Given the description of an element on the screen output the (x, y) to click on. 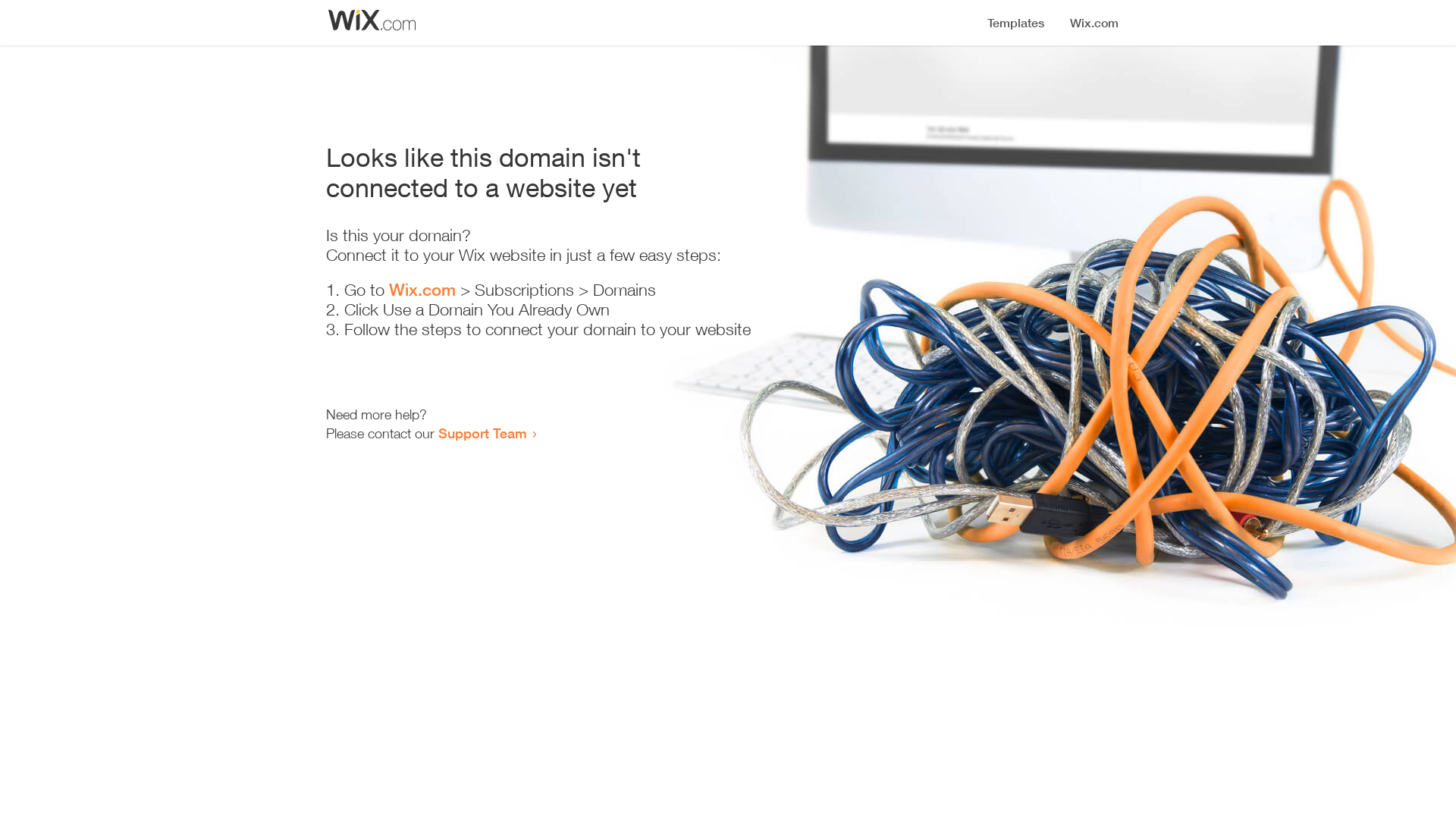
Wix.com Element type: text (422, 289)
Support Team Element type: text (482, 432)
